Given the description of an element on the screen output the (x, y) to click on. 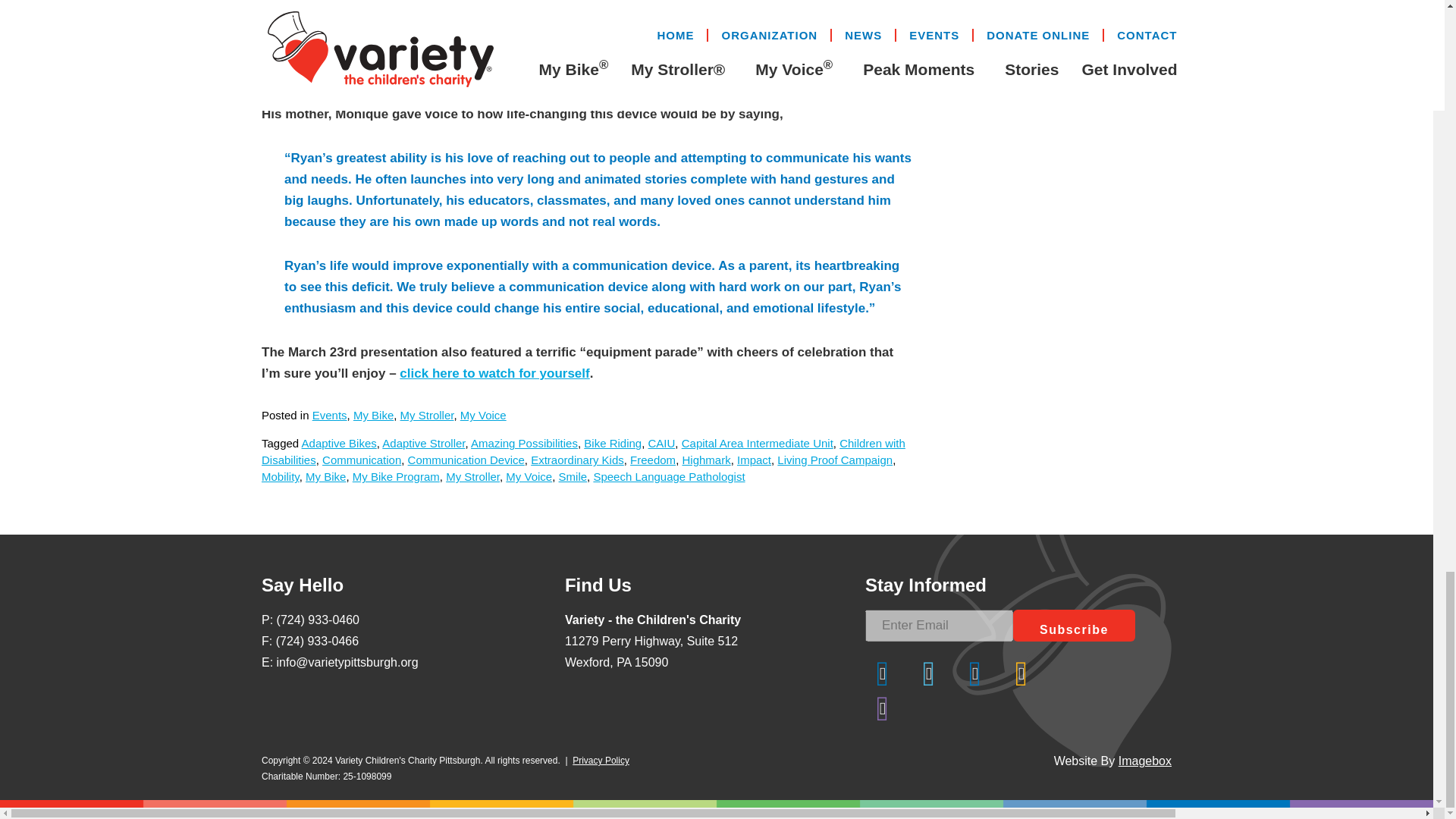
LinkedIn (975, 673)
Facebook (881, 673)
Twitter (928, 673)
Instagram (1021, 673)
YouTube (881, 708)
Subscribe (1074, 625)
